Given the description of an element on the screen output the (x, y) to click on. 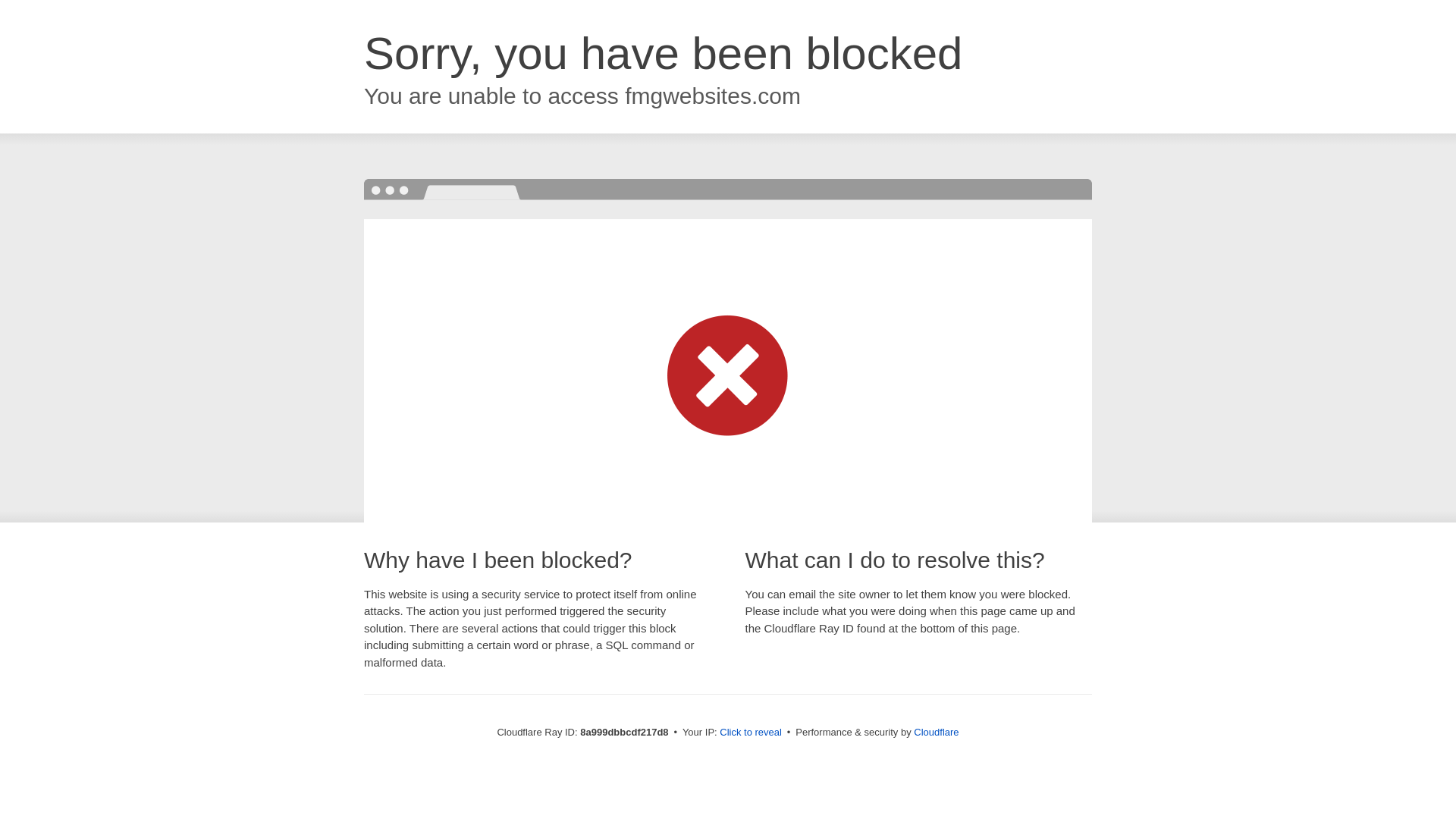
Click to reveal (750, 732)
Cloudflare (936, 731)
